Given the description of an element on the screen output the (x, y) to click on. 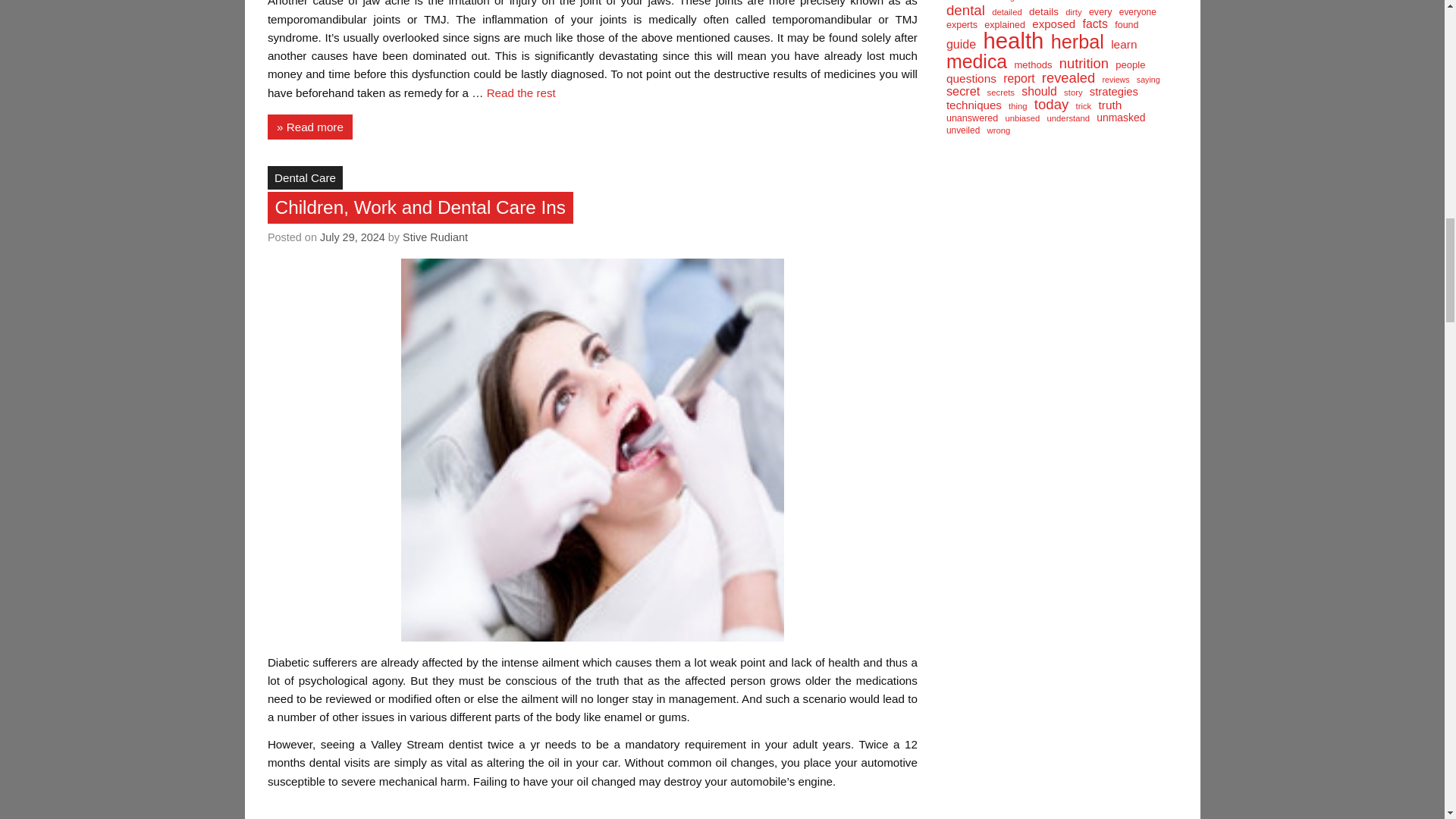
Stive Rudiant (435, 236)
Dental Care (304, 177)
5:36 pm (352, 236)
Read the rest (521, 92)
Children, Work and Dental Care Ins (420, 207)
View all posts by Stive Rudiant (435, 236)
July 29, 2024 (352, 236)
